Given the description of an element on the screen output the (x, y) to click on. 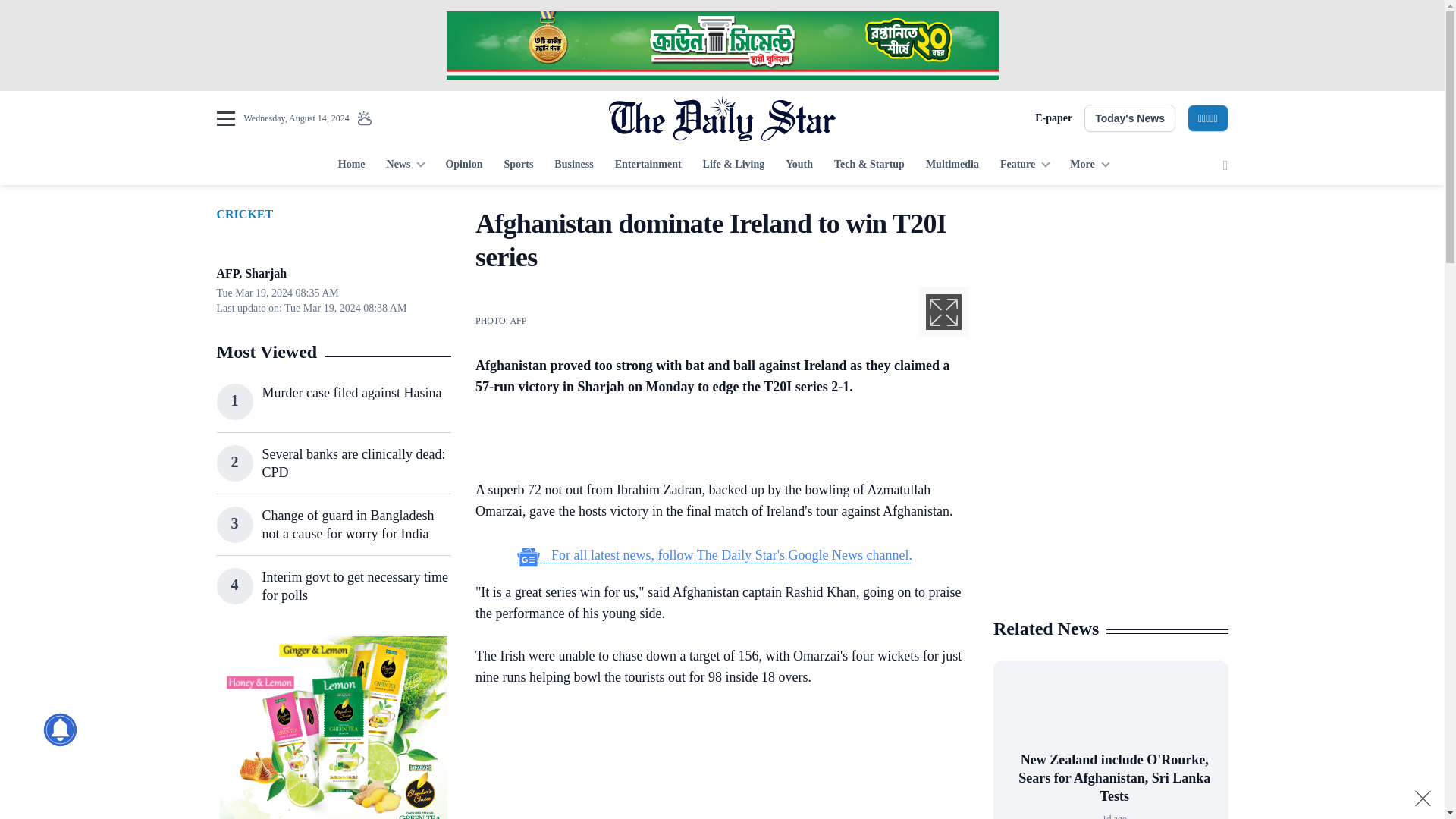
E-paper (1053, 117)
Sports (518, 165)
Multimedia (952, 165)
3rd party ad content (1110, 506)
3rd party ad content (332, 727)
3rd party ad content (714, 441)
Opinion (463, 165)
News (405, 165)
Entertainment (647, 165)
Feature (1024, 165)
